Given the description of an element on the screen output the (x, y) to click on. 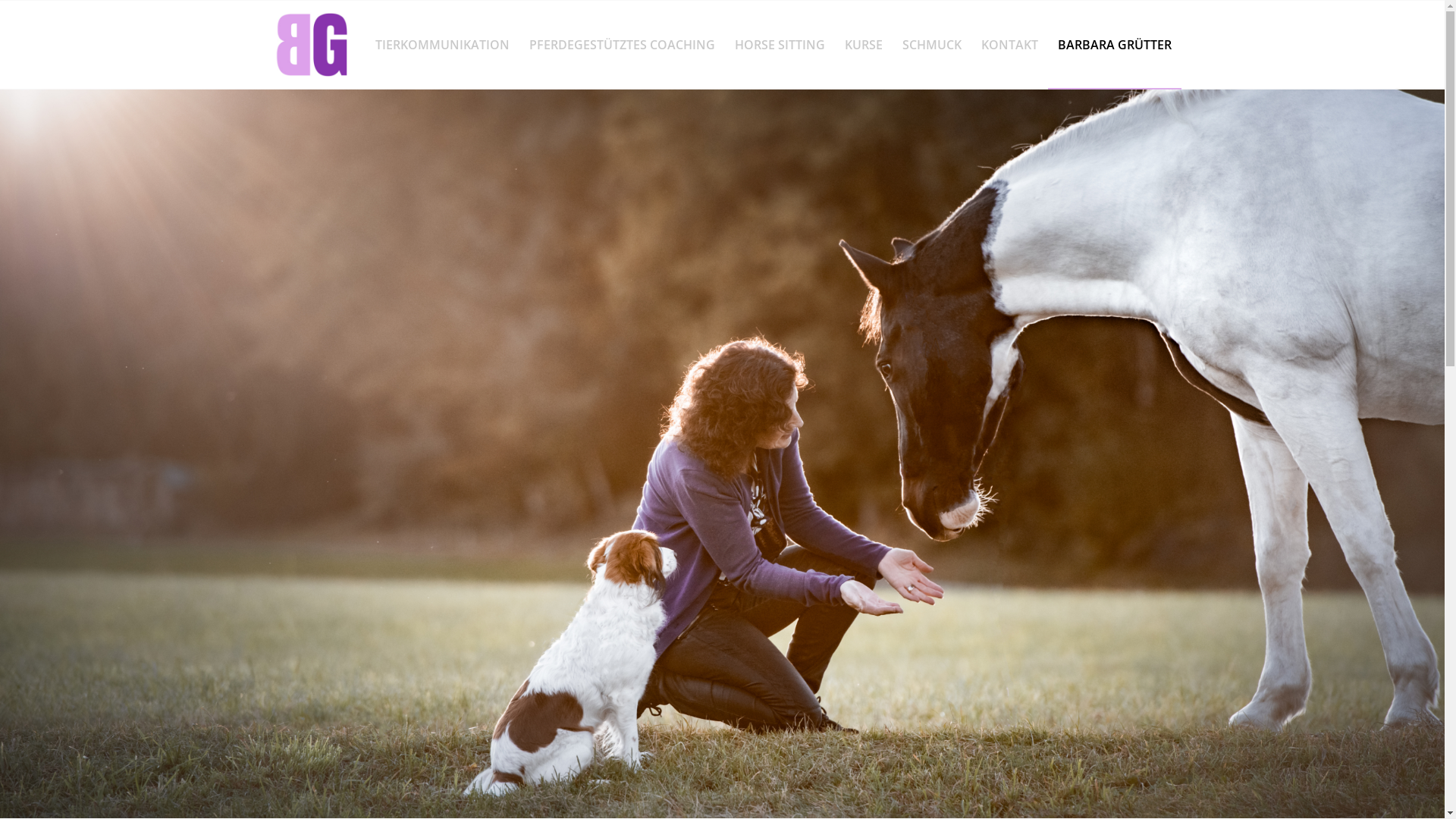
HORSE SITTING Element type: text (779, 44)
KONTAKT Element type: text (1008, 44)
TIERKOMMUNIKATION Element type: text (442, 44)
SCHMUCK Element type: text (930, 44)
KURSE Element type: text (862, 44)
